Given the description of an element on the screen output the (x, y) to click on. 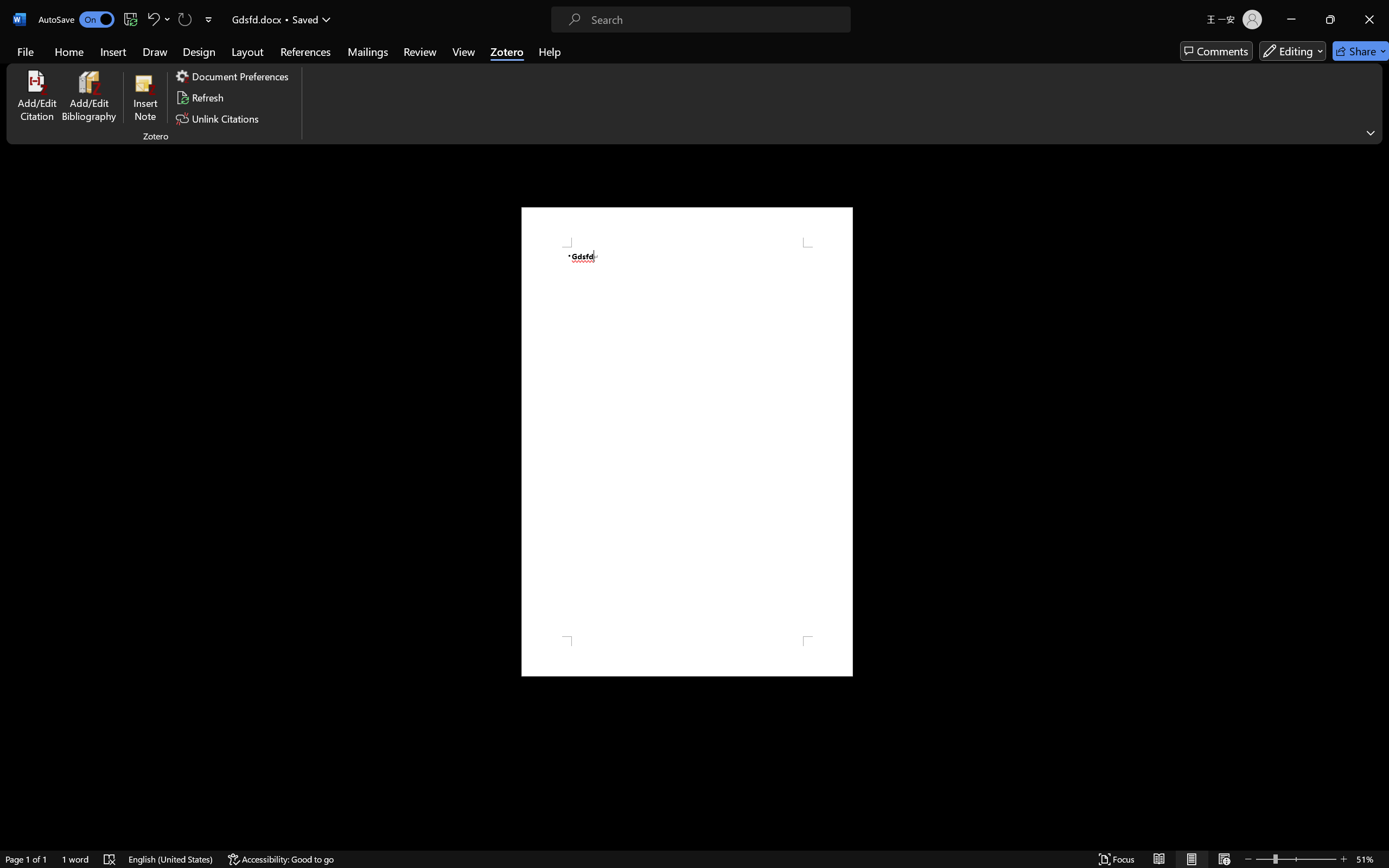
Page 1 content (686, 441)
